Given the description of an element on the screen output the (x, y) to click on. 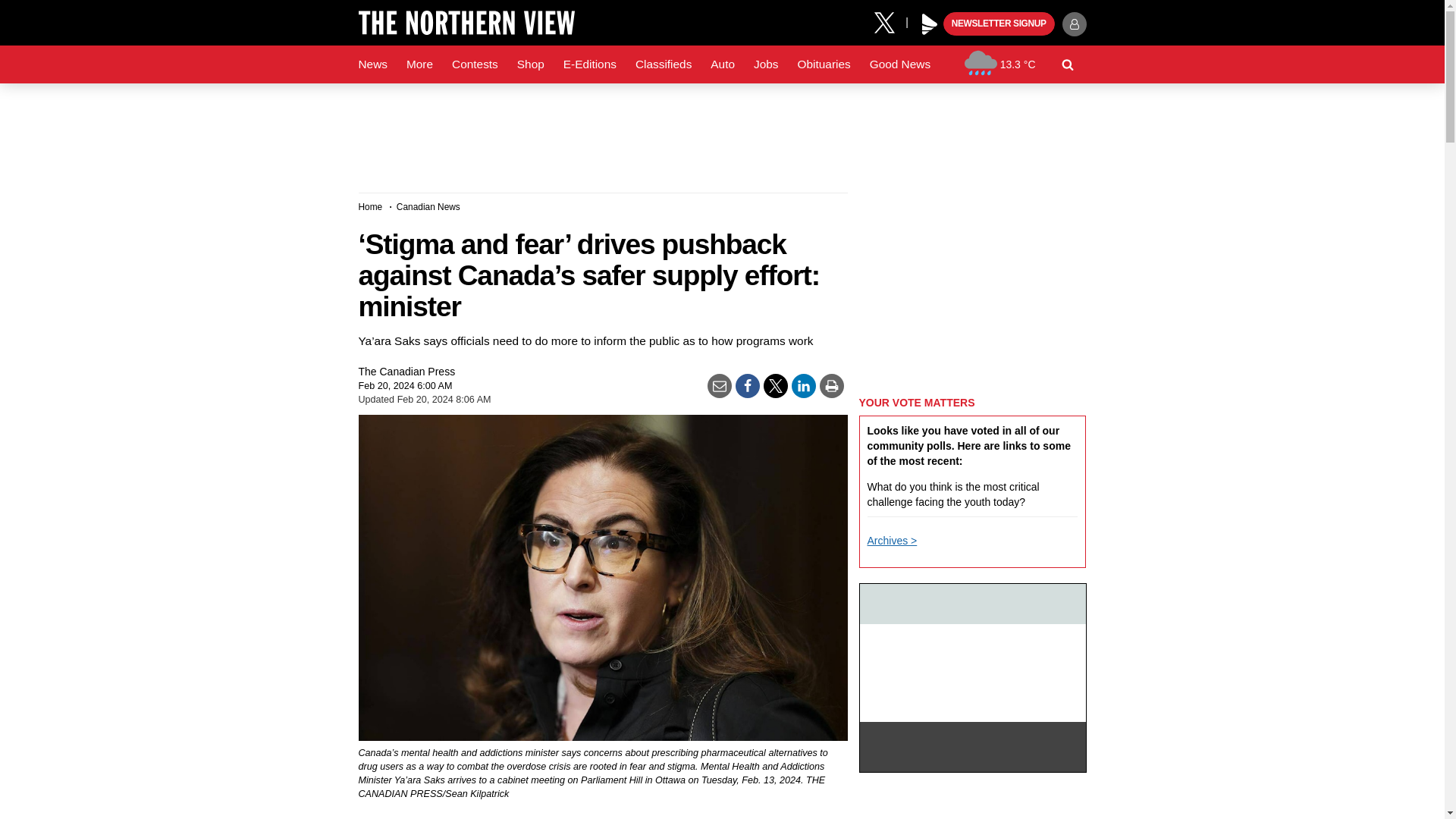
News (372, 64)
Play (929, 24)
3rd party ad content (721, 131)
NEWSLETTER SIGNUP (998, 24)
Black Press Media (929, 24)
X (889, 21)
